Given the description of an element on the screen output the (x, y) to click on. 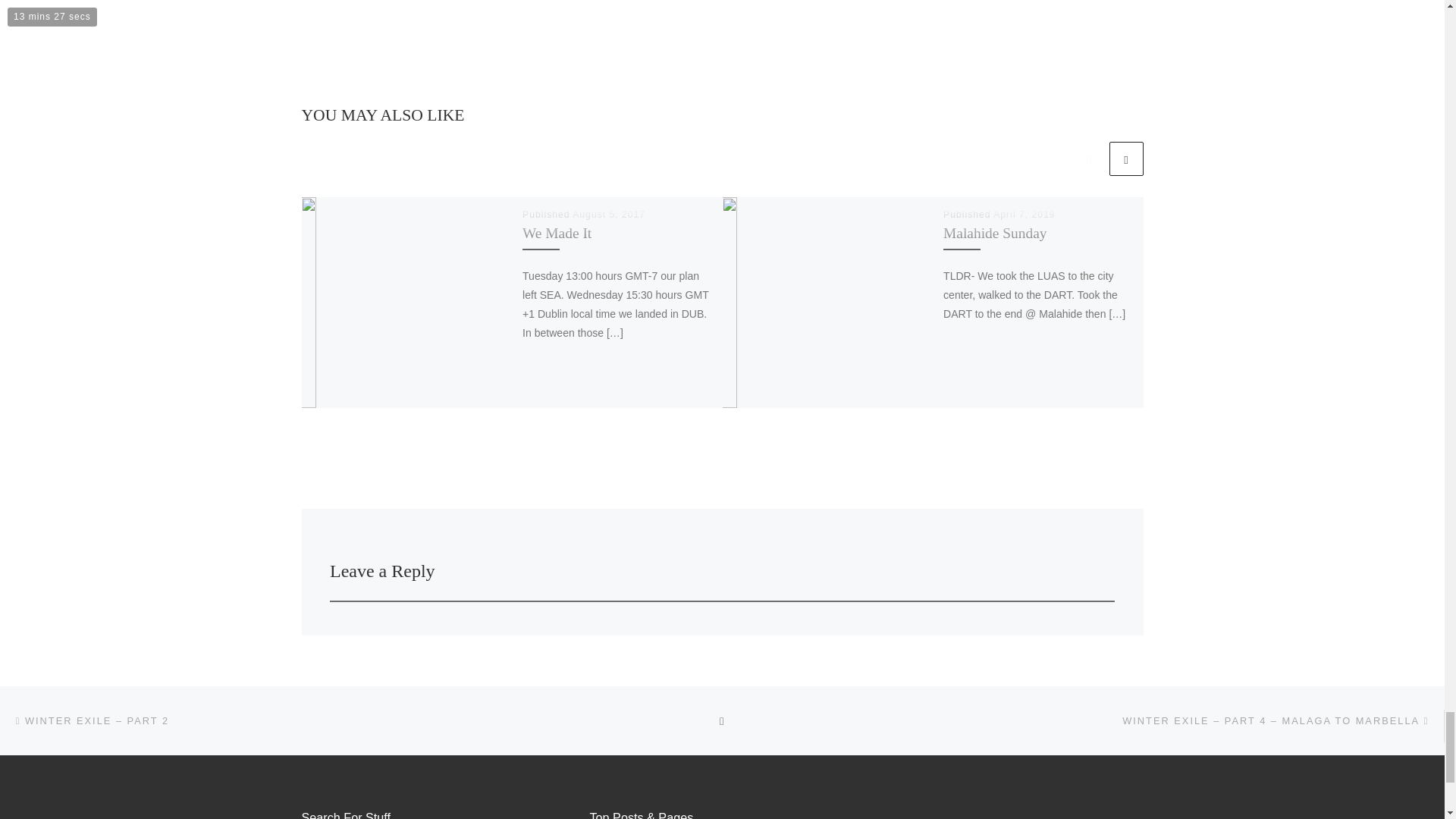
We Made It (556, 232)
Malahide Sunday (994, 232)
August 5, 2017 (608, 214)
April 7, 2019 (1023, 214)
